Given the description of an element on the screen output the (x, y) to click on. 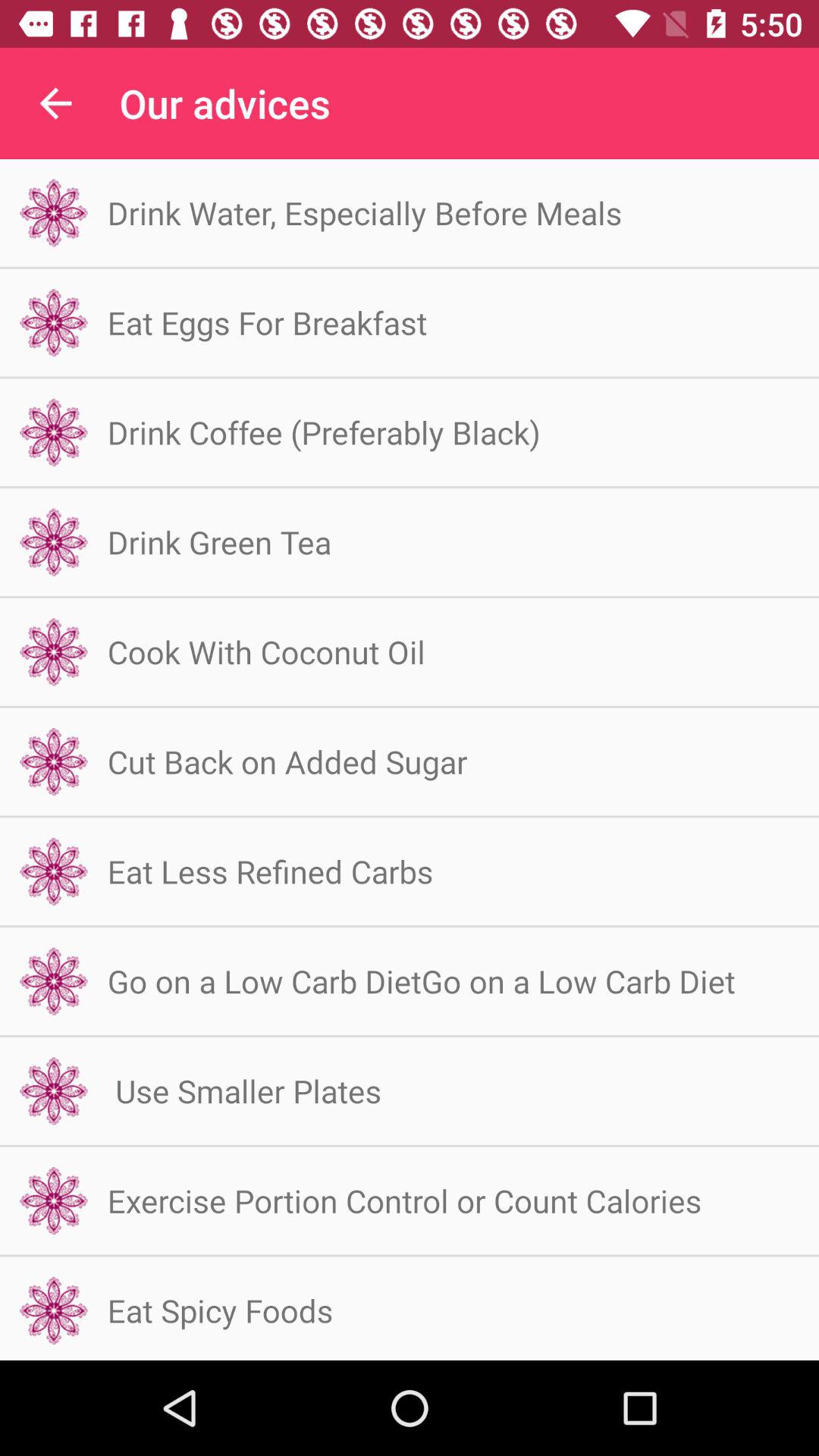
jump to the  use smaller plates icon (244, 1090)
